Given the description of an element on the screen output the (x, y) to click on. 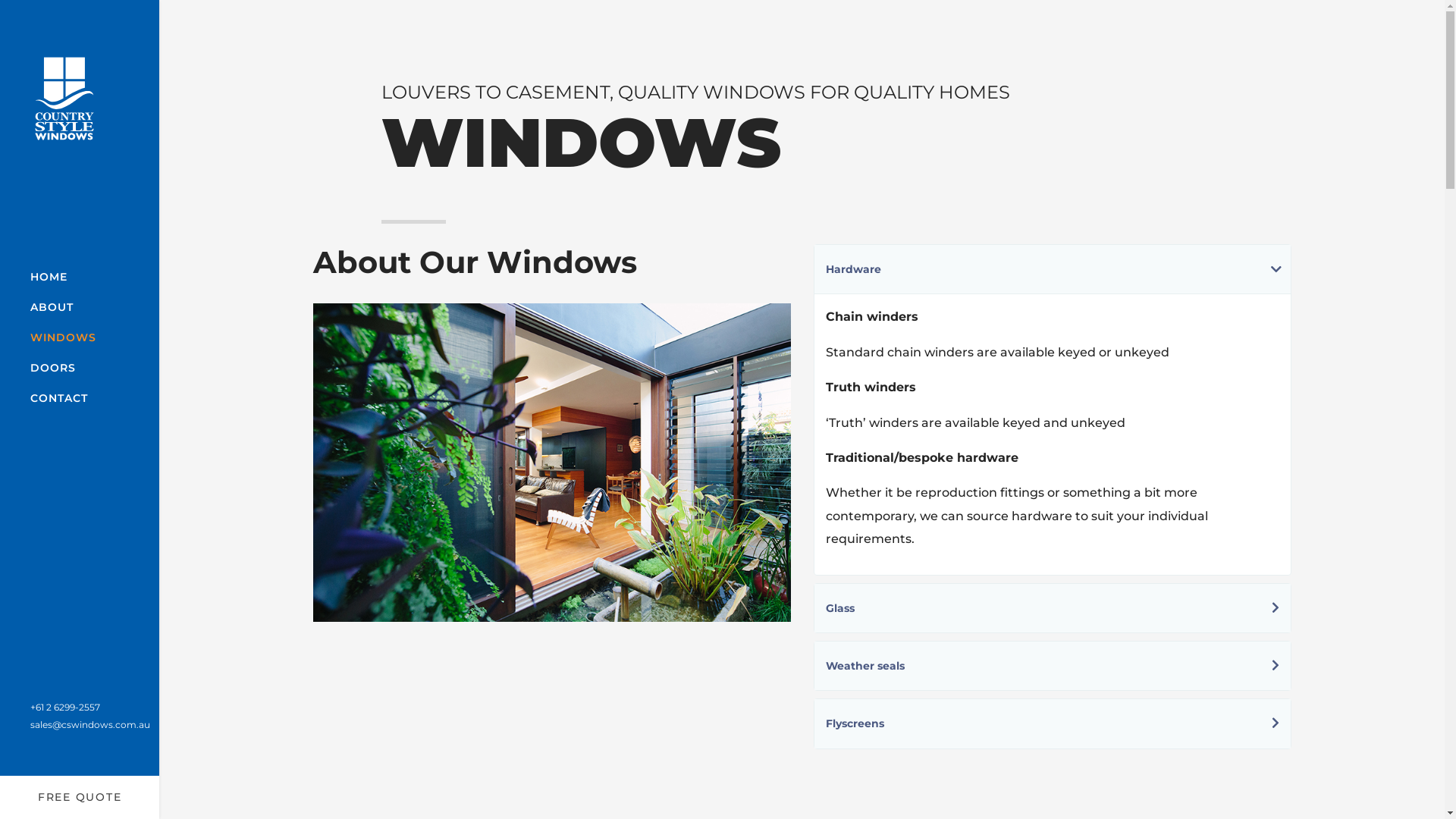
DOORS Element type: text (52, 367)
WINDOWS Element type: text (63, 337)
sales@cswindows.com.au Element type: text (90, 724)
CONTACT Element type: text (58, 397)
HOME Element type: text (48, 276)
ABOUT Element type: text (51, 306)
+61 2 6299-2557 Element type: text (65, 706)
